Given the description of an element on the screen output the (x, y) to click on. 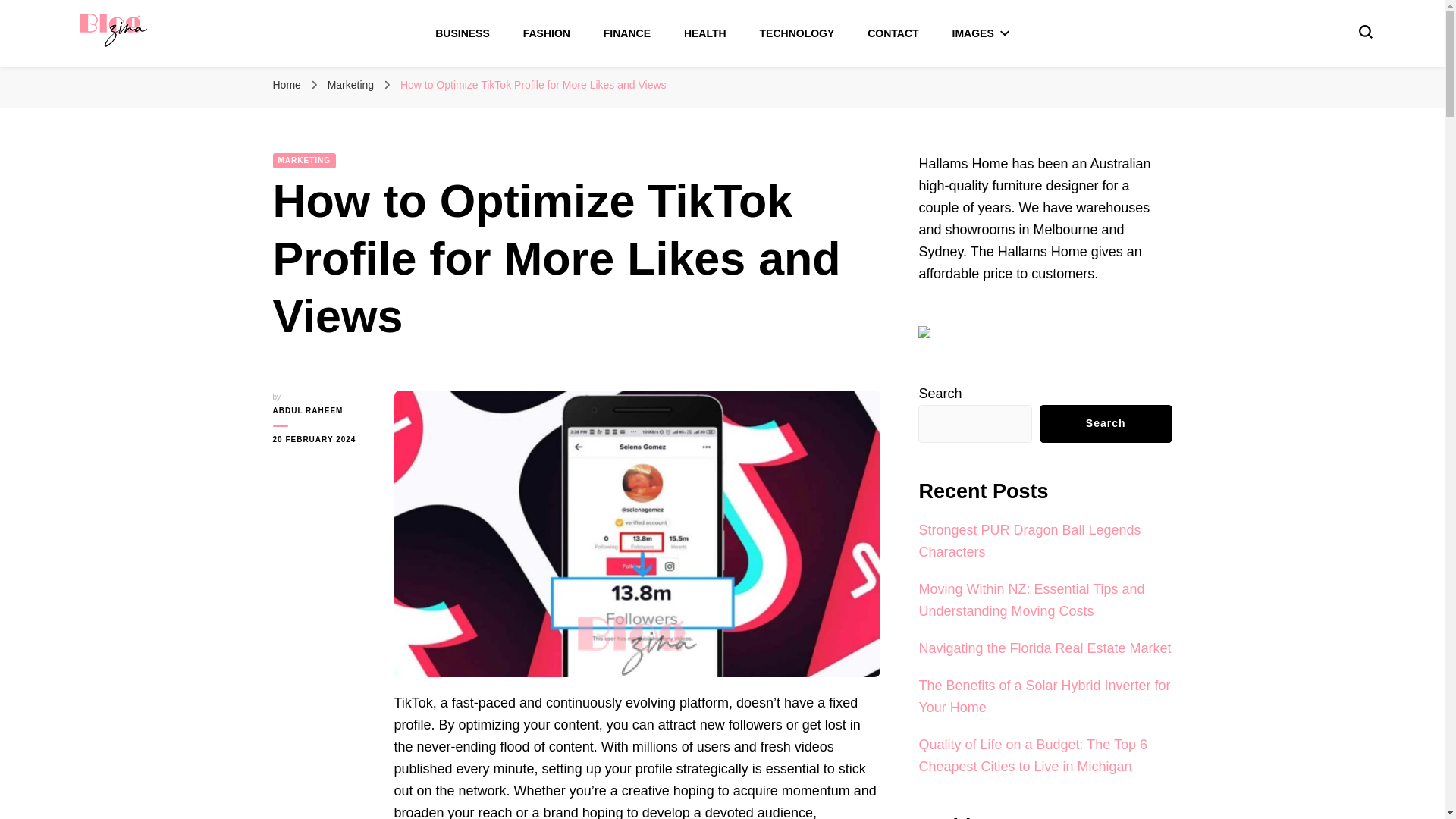
IMAGES (980, 33)
BlogZina (125, 70)
FASHION (546, 33)
FINANCE (627, 33)
CONTACT (892, 33)
TECHNOLOGY (797, 33)
BUSINESS (462, 33)
HEALTH (705, 33)
